Given the description of an element on the screen output the (x, y) to click on. 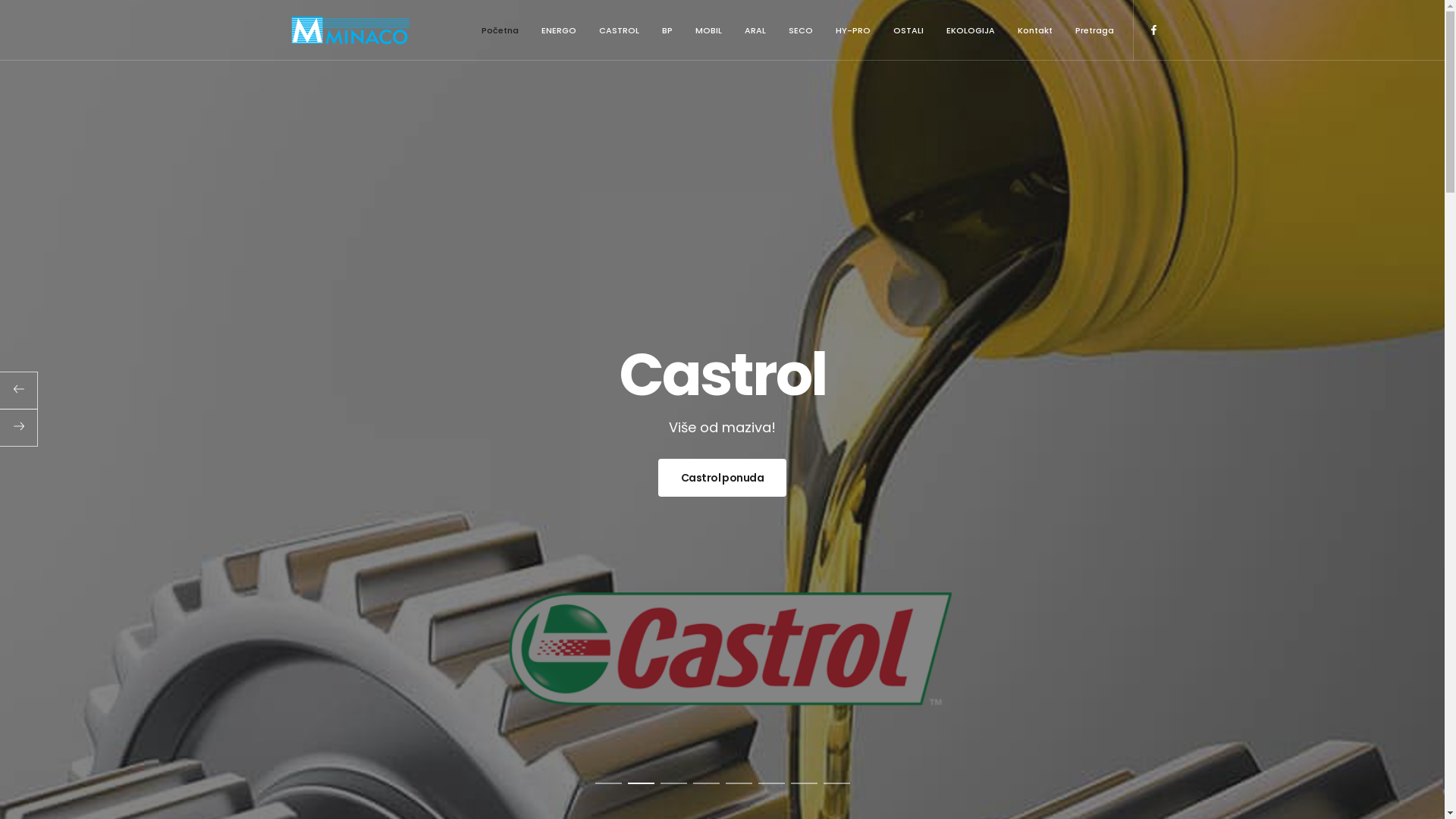
Vijesti Element type: text (525, 589)
8 Element type: text (836, 783)
MOBIL Element type: text (708, 30)
ARAL Element type: text (754, 30)
Pretraga Element type: text (1093, 30)
ENERGO Element type: text (557, 30)
2 Element type: text (640, 783)
Kontakt Element type: text (1034, 30)
5 Element type: text (737, 783)
SECO Element type: text (799, 30)
CASTROL Element type: text (617, 30)
6 Element type: text (771, 783)
HY-PRO Element type: text (852, 30)
Kontakt Element type: text (530, 640)
Castrol ponuda Element type: text (722, 477)
OSTALI Element type: text (907, 30)
7 Element type: text (803, 783)
1 Element type: text (607, 783)
O nama Element type: text (528, 536)
Certifikati Element type: text (535, 615)
BP Element type: text (667, 30)
3 Element type: text (672, 783)
4 Element type: text (706, 783)
EKOLOGIJA Element type: text (969, 30)
